Given the description of an element on the screen output the (x, y) to click on. 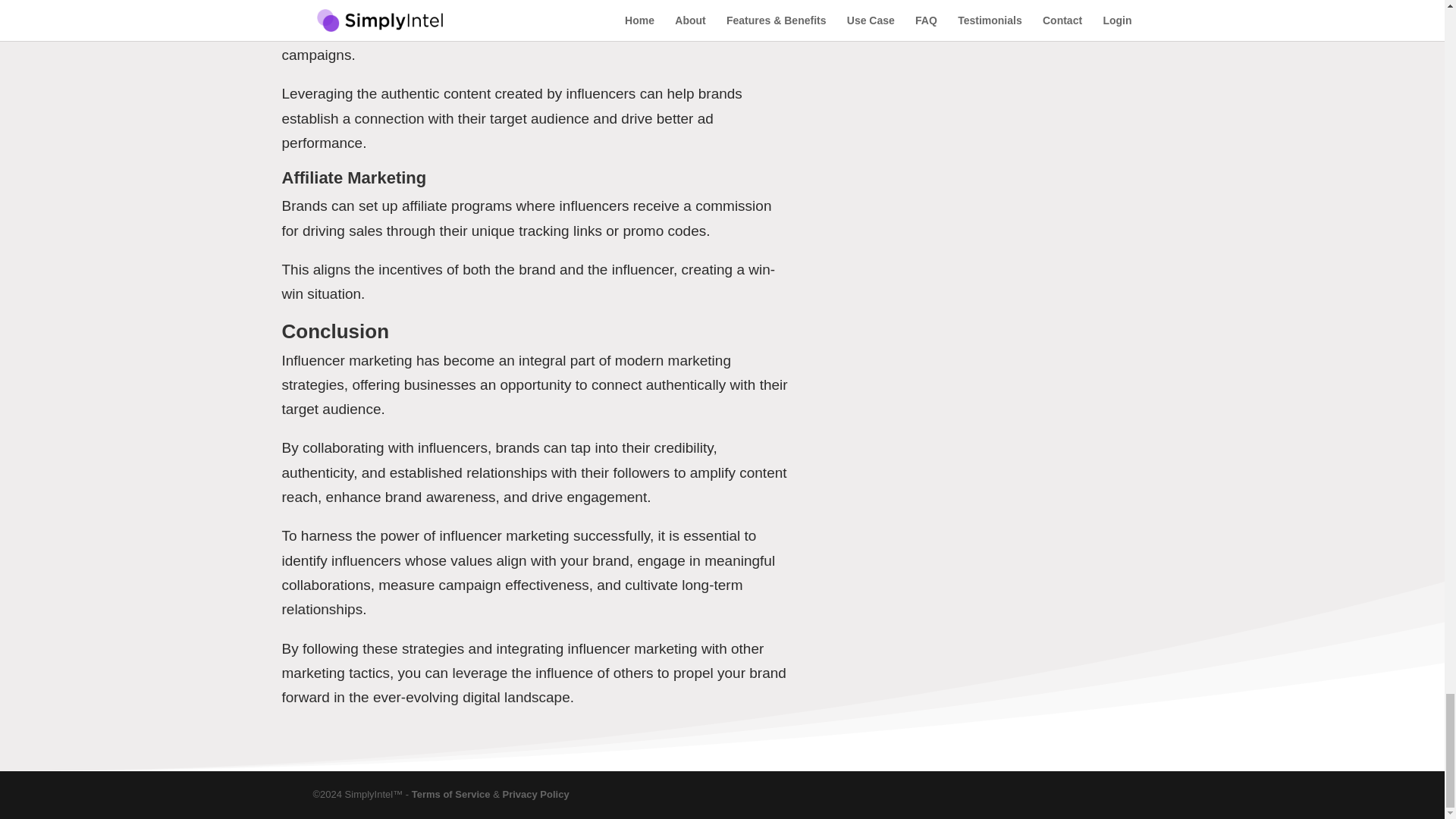
Terms of Service (451, 794)
Privacy Policy (535, 794)
social media ad (664, 30)
